Given the description of an element on the screen output the (x, y) to click on. 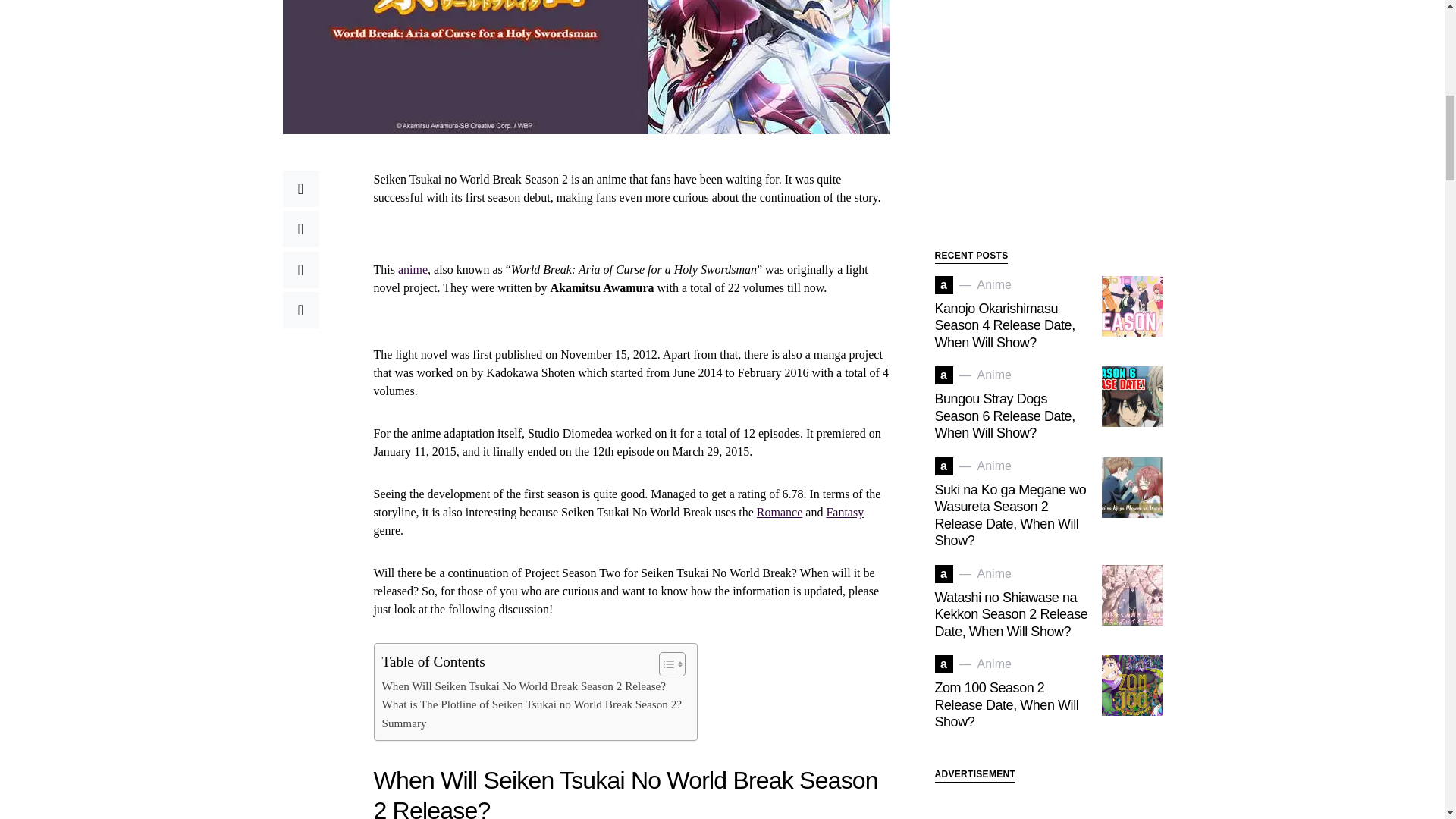
Summary (403, 723)
When Will Seiken Tsukai No World Break Season 2 Release? (523, 686)
When Will Seiken Tsukai No World Break Season 2 Release? (523, 686)
anime (412, 269)
Romance (779, 512)
Fantasy (844, 512)
Summary (403, 723)
